Given the description of an element on the screen output the (x, y) to click on. 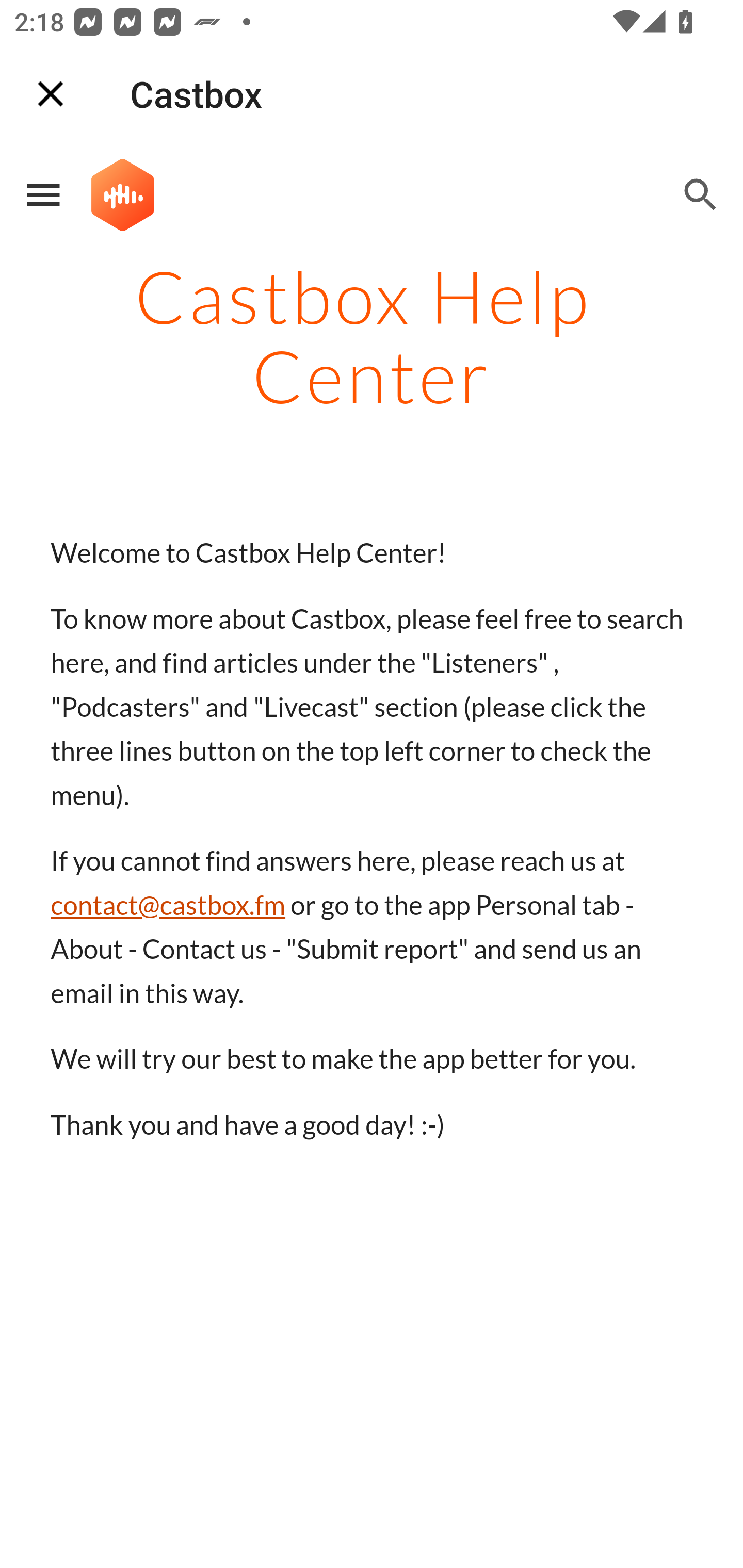
Navigate up (50, 93)
Skip to navigation (608, 210)
contact@castbox.fm (168, 904)
